Given the description of an element on the screen output the (x, y) to click on. 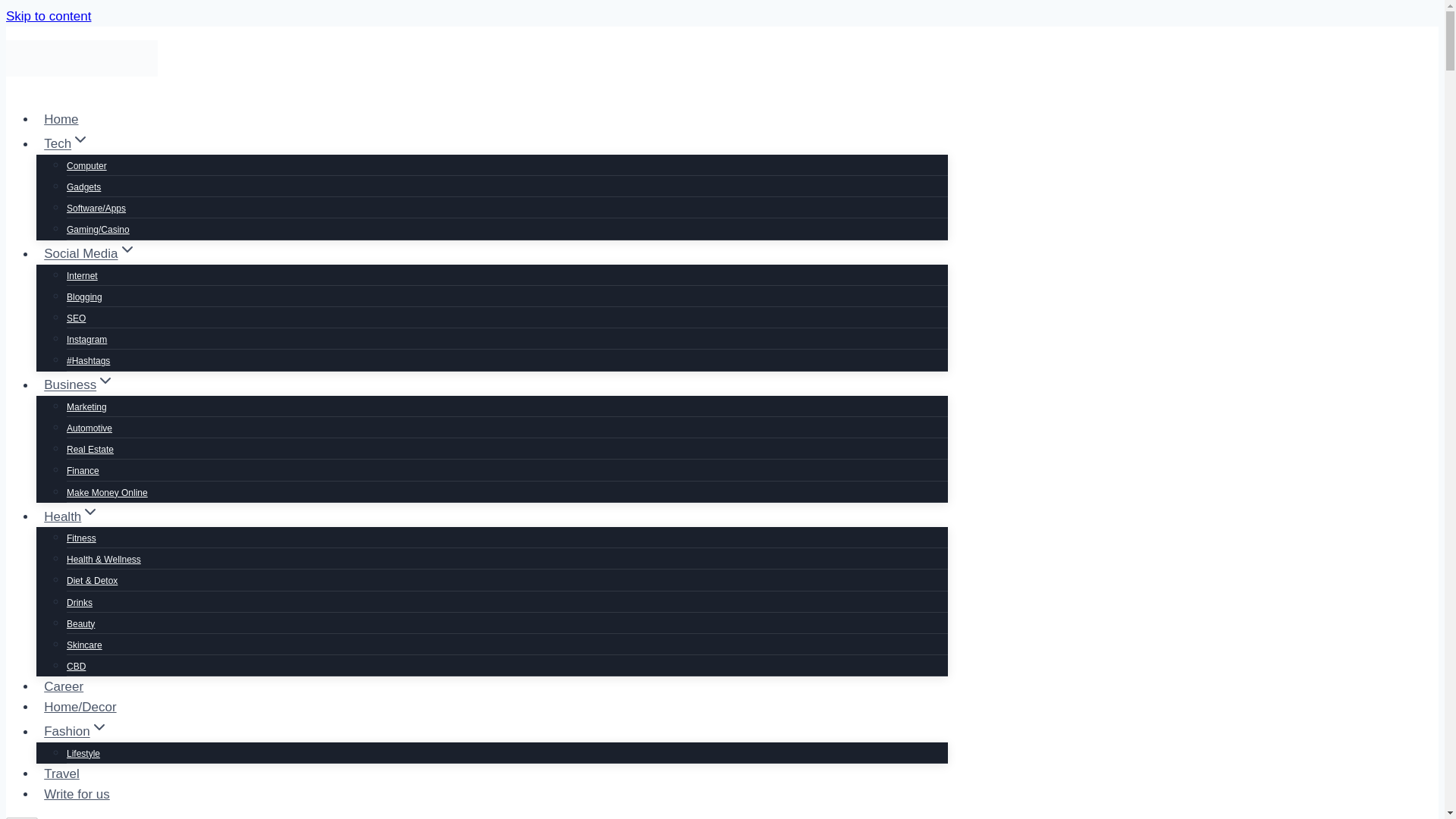
HealthExpand (71, 516)
Career (63, 686)
Instagram (86, 339)
Expand (98, 727)
Skip to content (47, 16)
Internet (81, 275)
Automotive (89, 428)
Expand (126, 248)
Real Estate (89, 449)
Lifestyle (83, 753)
Expand (90, 511)
Marketing (86, 407)
Home (60, 119)
Drinks (79, 602)
BusinessExpand (79, 384)
